Given the description of an element on the screen output the (x, y) to click on. 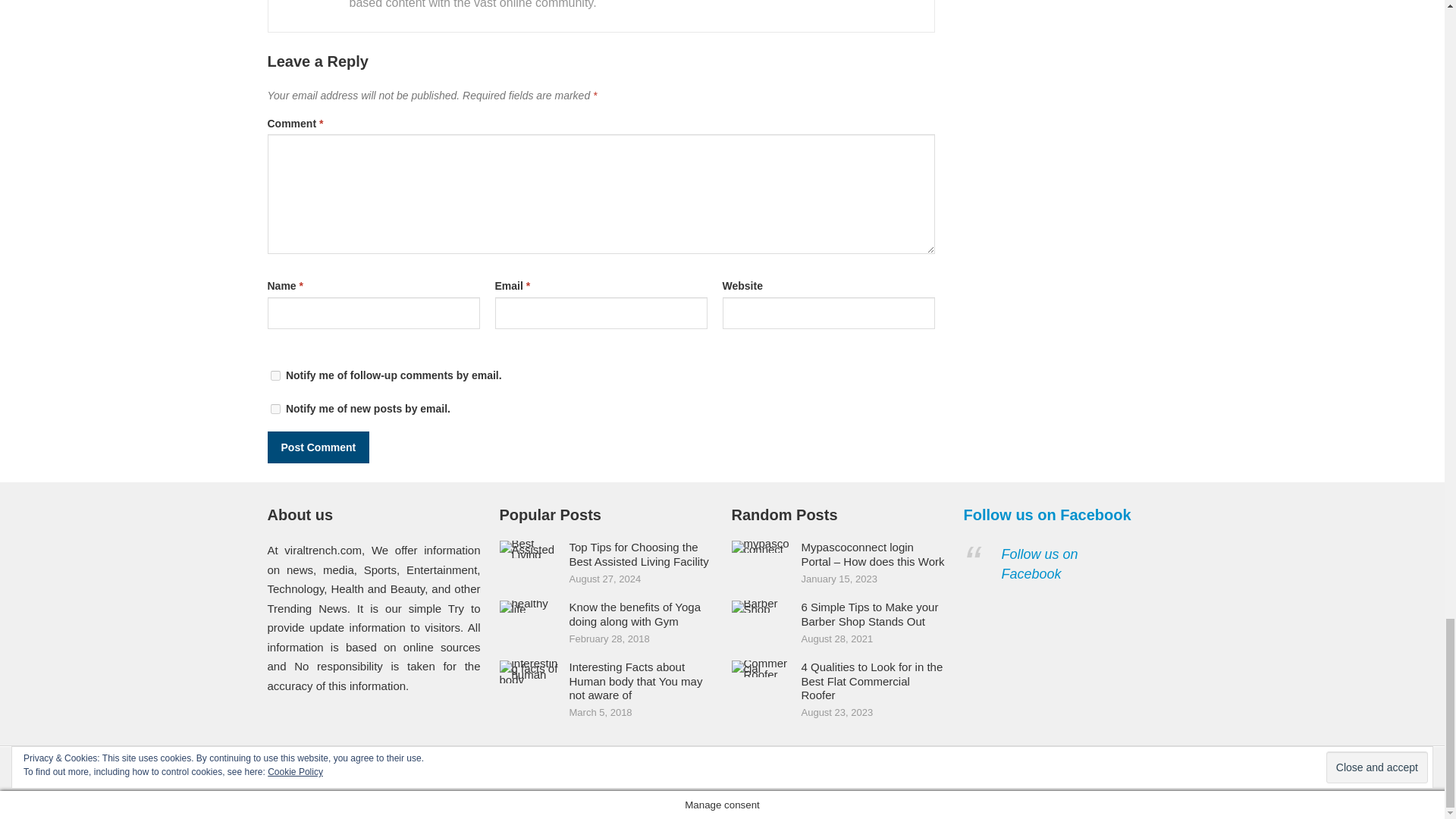
subscribe (274, 375)
Post Comment (317, 447)
subscribe (274, 409)
